Given the description of an element on the screen output the (x, y) to click on. 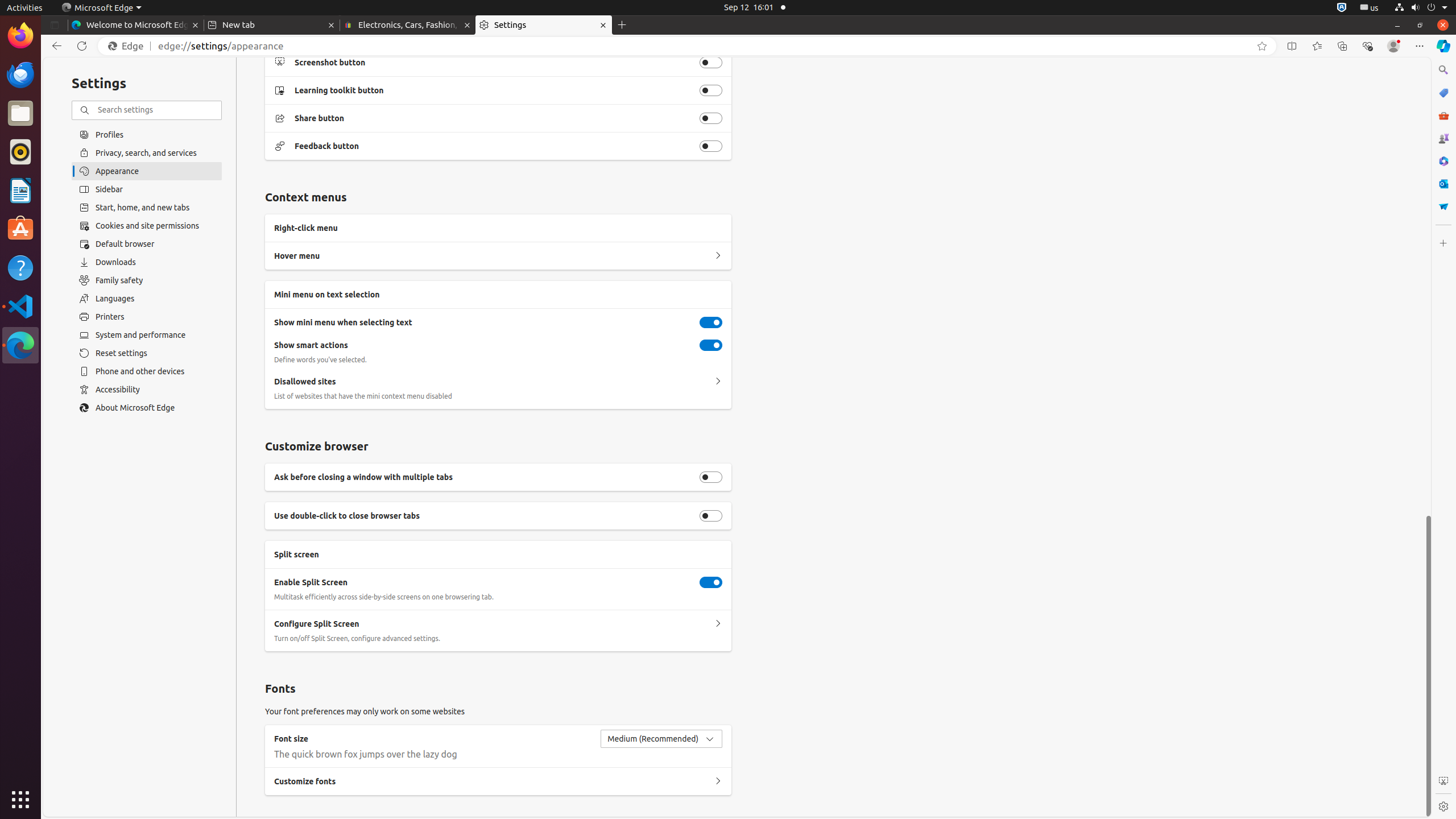
Browser essentials Element type: push-button (1366, 45)
Tab actions menu Element type: push-button (54, 24)
Show smart actions Element type: check-box (710, 344)
LibreOffice Writer Element type: push-button (20, 190)
Downloads Element type: tree-item (146, 262)
